Given the description of an element on the screen output the (x, y) to click on. 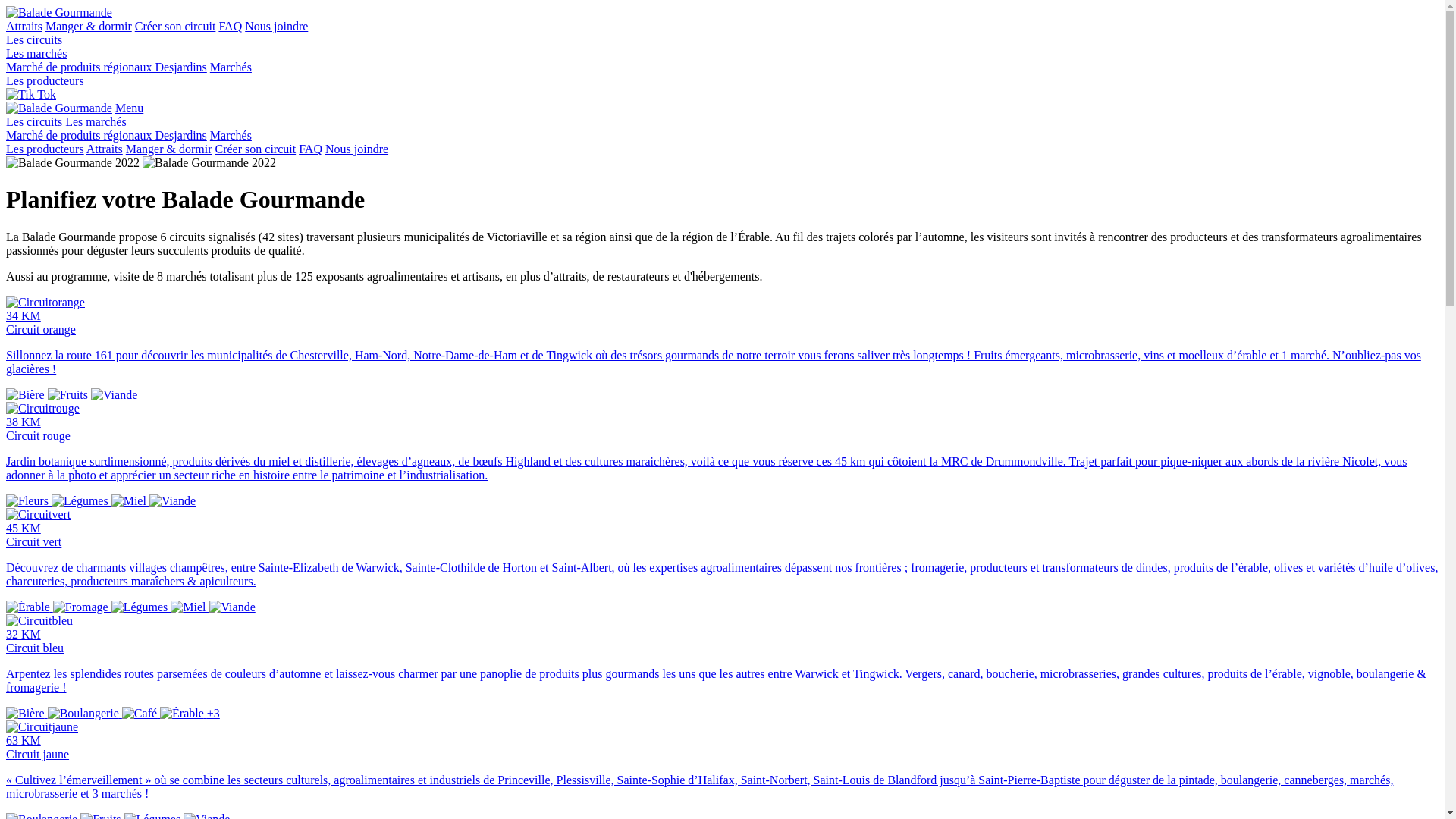
Attraits Element type: text (24, 25)
Nous joindre Element type: text (356, 148)
Les circuits Element type: text (34, 39)
Attraits Element type: text (104, 148)
Les producteurs Element type: text (45, 148)
FAQ Element type: text (310, 148)
Les circuits Element type: text (34, 121)
Manger & dormir Element type: text (168, 148)
Menu Element type: text (129, 107)
Manger & dormir Element type: text (88, 25)
FAQ Element type: text (229, 25)
Les producteurs Element type: text (45, 80)
Nous joindre Element type: text (275, 25)
